Given the description of an element on the screen output the (x, y) to click on. 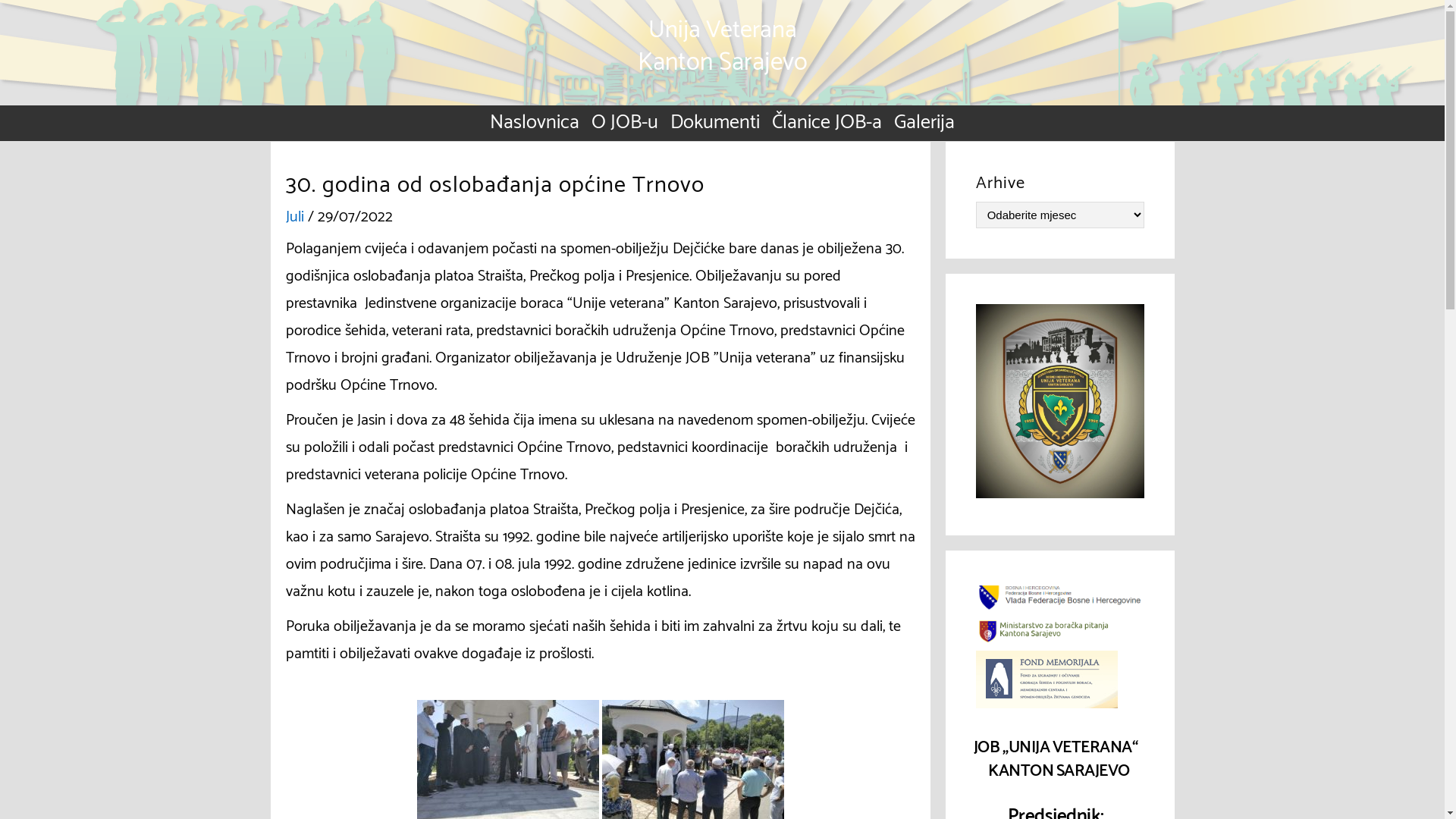
Dokumenti Element type: text (714, 122)
Juli Element type: text (294, 216)
Galerija Element type: text (924, 122)
Unija Veterana Element type: text (721, 30)
Naslovnica Element type: text (534, 122)
O JOB-u Element type: text (624, 122)
